Given the description of an element on the screen output the (x, y) to click on. 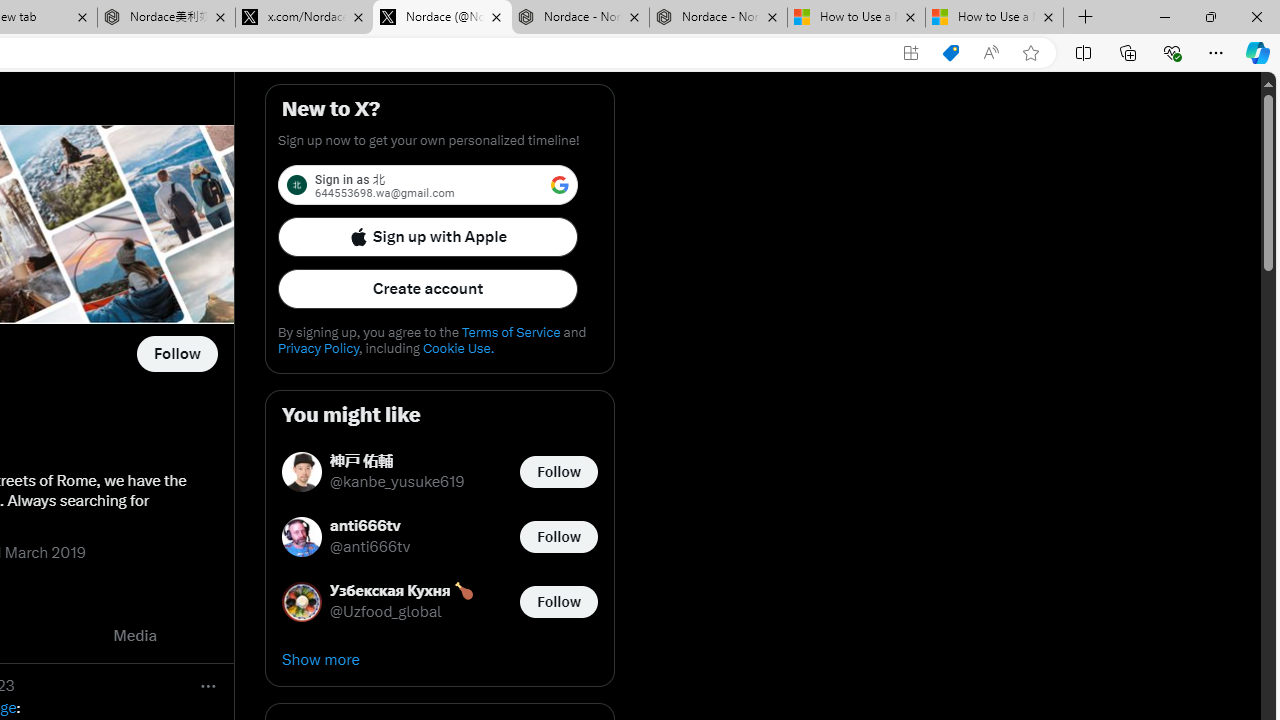
Class: LgbsSe-Bz112c (559, 184)
Nordace (@NordaceOfficial) / X (441, 17)
Shopping in Microsoft Edge (950, 53)
@kanbe_yusuke619 (397, 482)
How to Use a Monitor With Your Closed Laptop (994, 17)
App available. Install X (910, 53)
anti666tv (370, 526)
x.com/NordaceOfficial (303, 17)
